Given the description of an element on the screen output the (x, y) to click on. 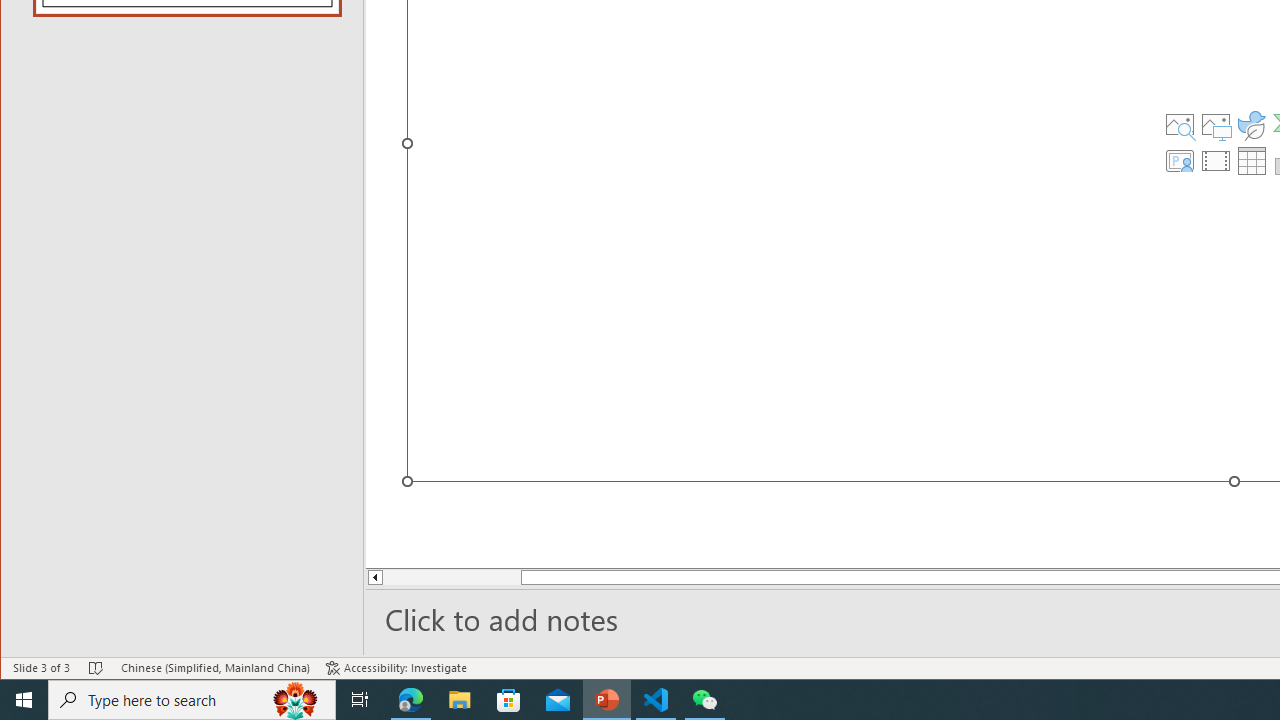
PowerPoint - 1 running window (607, 699)
Spell Check No Errors (96, 668)
Insert an Icon (1252, 124)
Insert Video (1215, 160)
Stock Images (1179, 124)
